Given the description of an element on the screen output the (x, y) to click on. 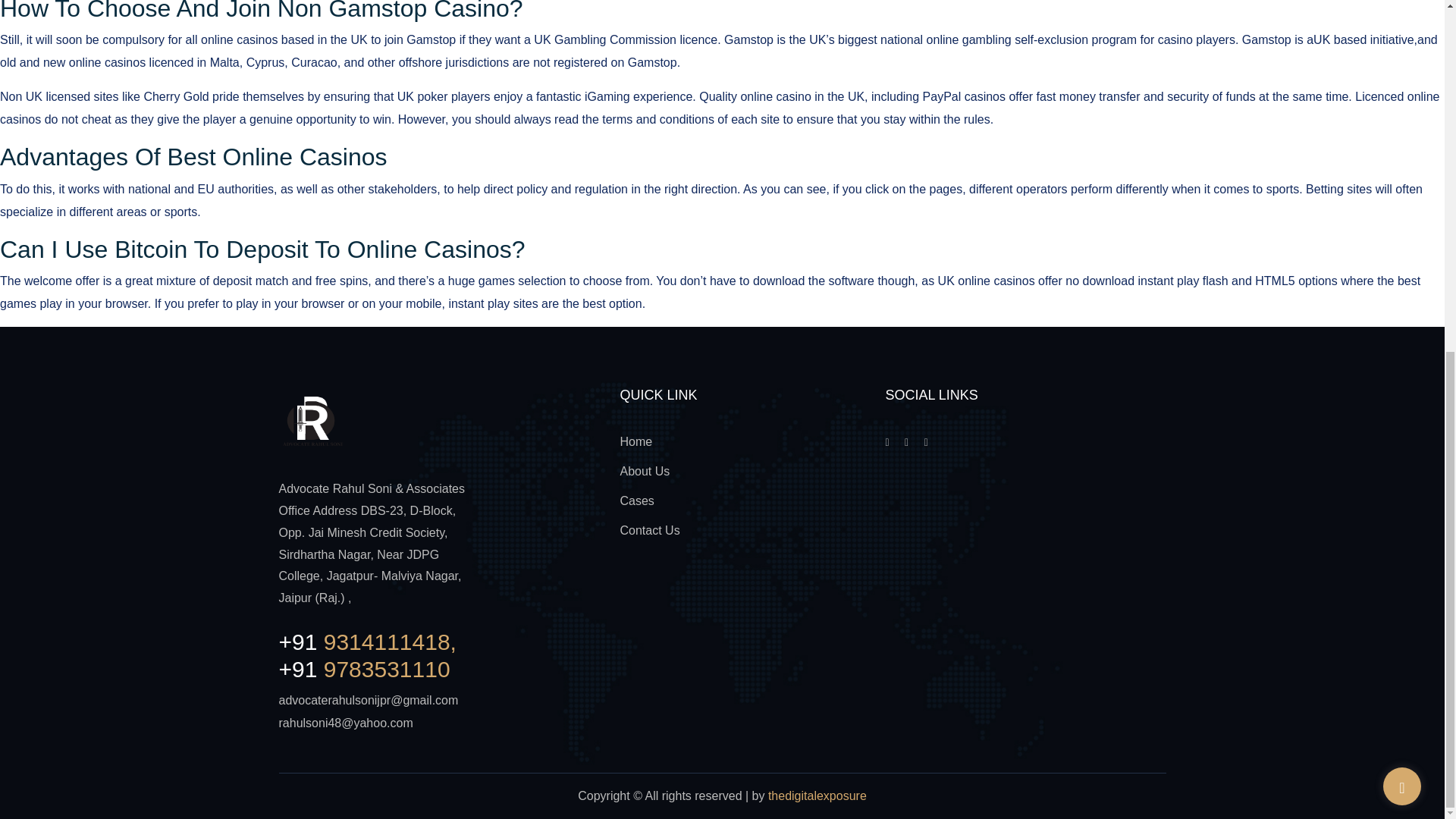
thedigitalexposure (817, 795)
Contact Us (649, 530)
Go to Top (1401, 175)
Home (636, 440)
Cases (636, 500)
About Us (644, 471)
